Given the description of an element on the screen output the (x, y) to click on. 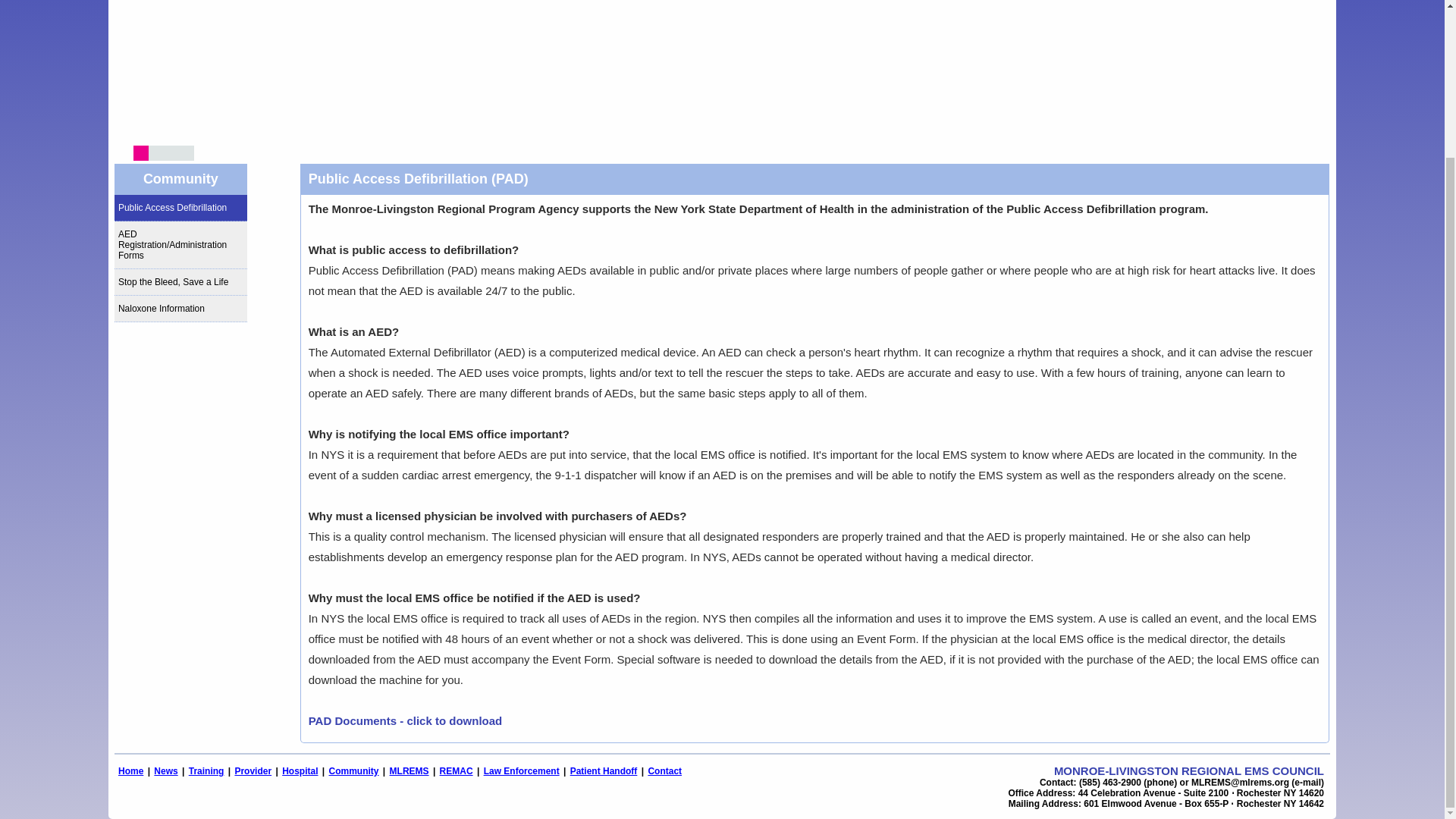
Community (353, 770)
Contact (664, 770)
4 (186, 152)
Hospital (299, 770)
1 (140, 152)
Patient Handoff (603, 770)
Forms (405, 720)
MLREMS (409, 770)
Naloxone Information (181, 308)
PAD Documents - click to download (405, 720)
2 (155, 152)
Law Enforcement (521, 770)
REMAC (456, 770)
Training (206, 770)
3 (171, 152)
